Given the description of an element on the screen output the (x, y) to click on. 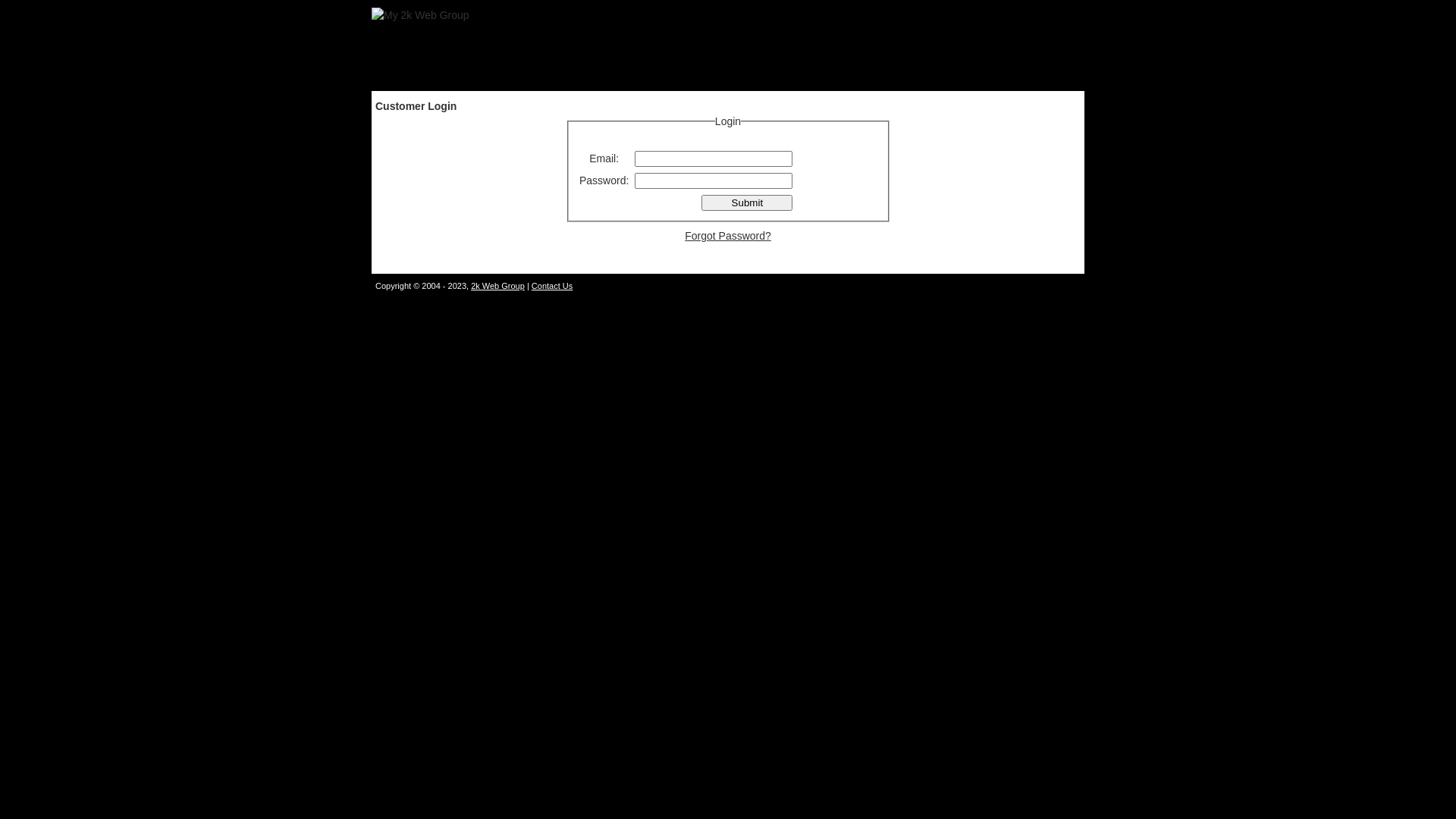
Forgot Password? Element type: text (727, 235)
2k Web Group Element type: text (497, 285)
Submit Element type: text (746, 202)
Contact Us Element type: text (551, 285)
